Given the description of an element on the screen output the (x, y) to click on. 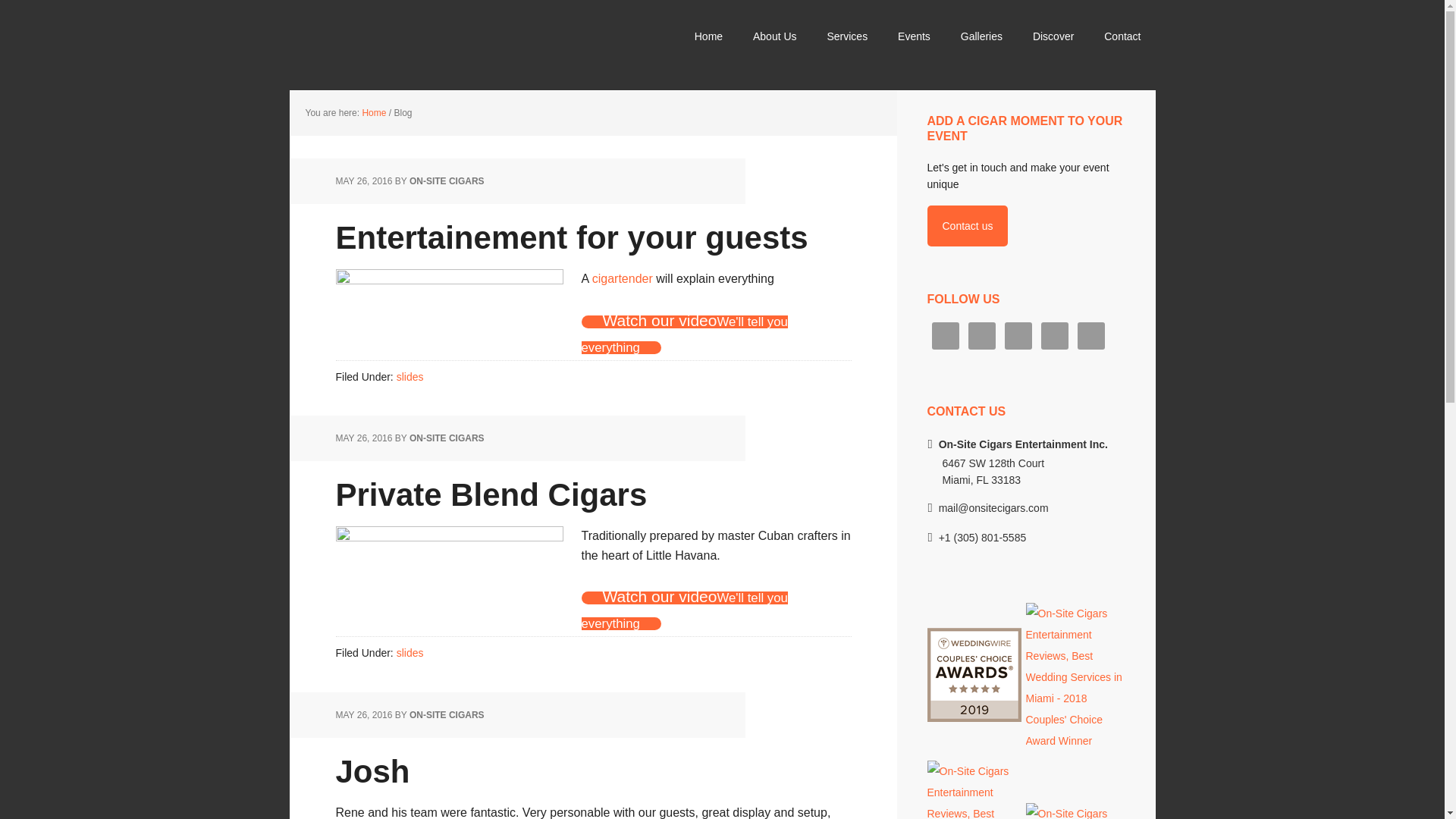
Galleries (981, 37)
On Site Cigars (433, 45)
Discover (1053, 37)
Entertainement for your guests (571, 237)
About Us (774, 37)
cigartender (622, 278)
ON-SITE CIGARS (446, 181)
Services (846, 37)
